Given the description of an element on the screen output the (x, y) to click on. 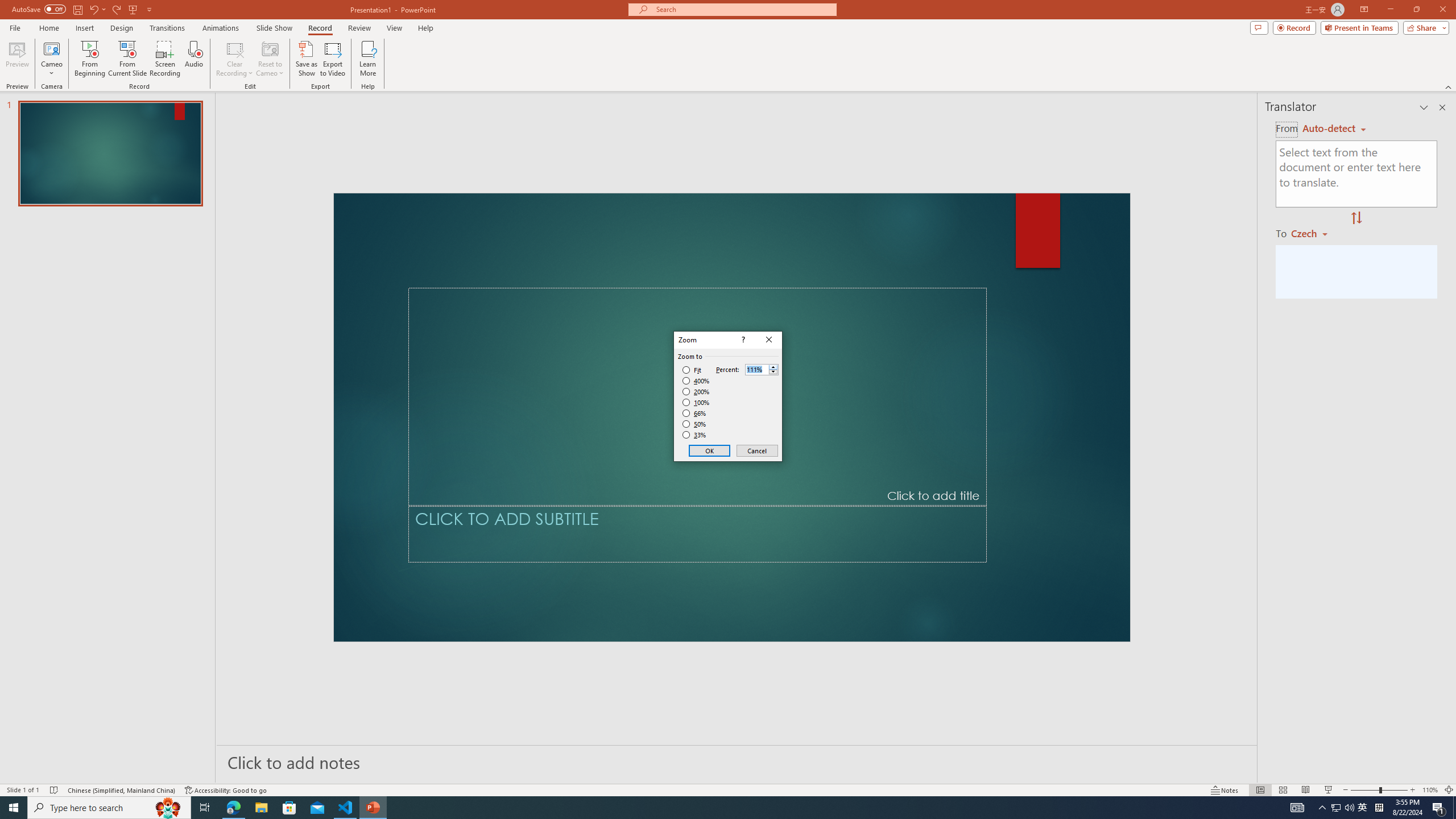
Percent (756, 369)
50% (694, 424)
100% (696, 402)
66% (694, 412)
